Given the description of an element on the screen output the (x, y) to click on. 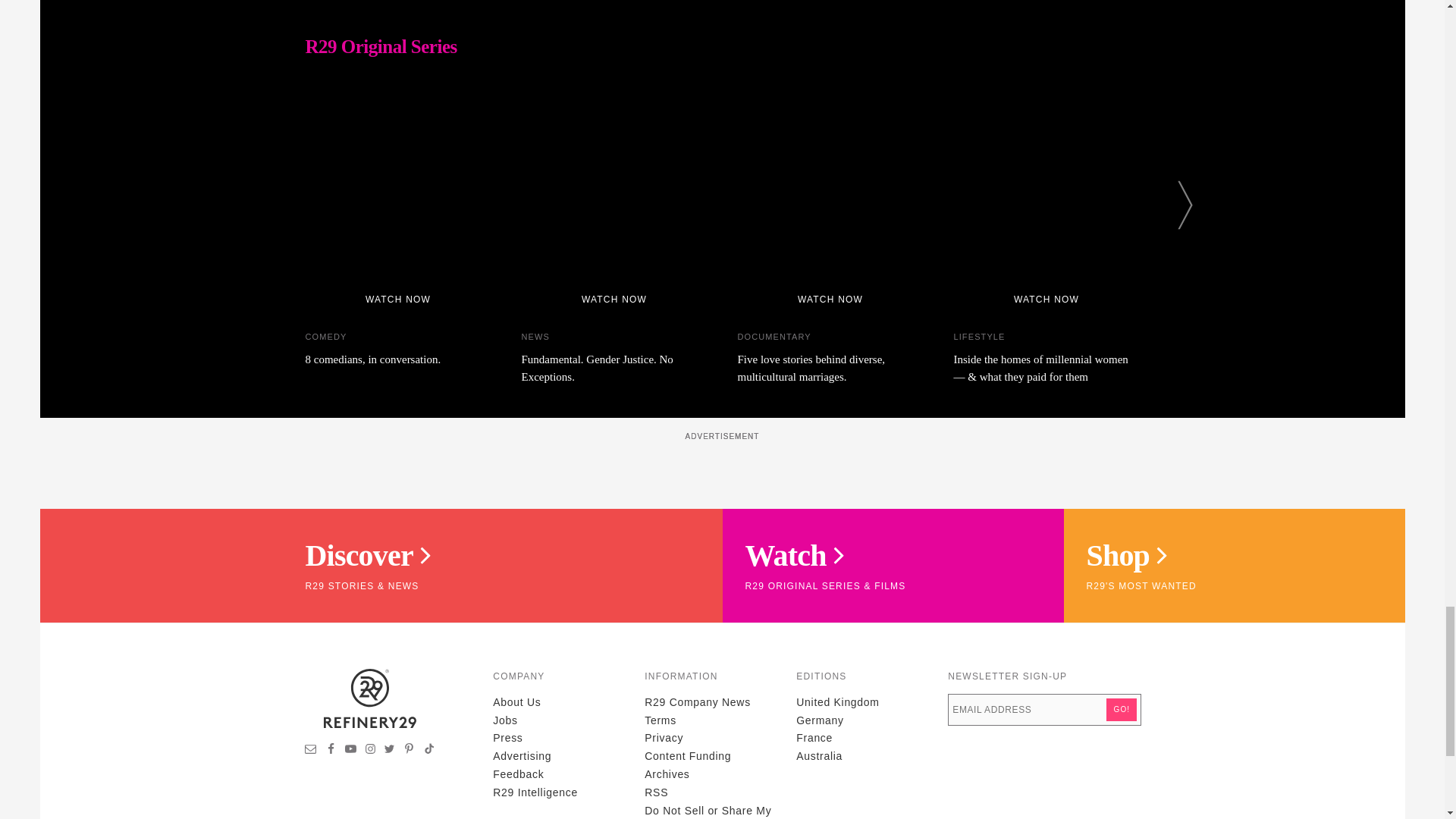
Sign up for newsletters (310, 750)
